Given the description of an element on the screen output the (x, y) to click on. 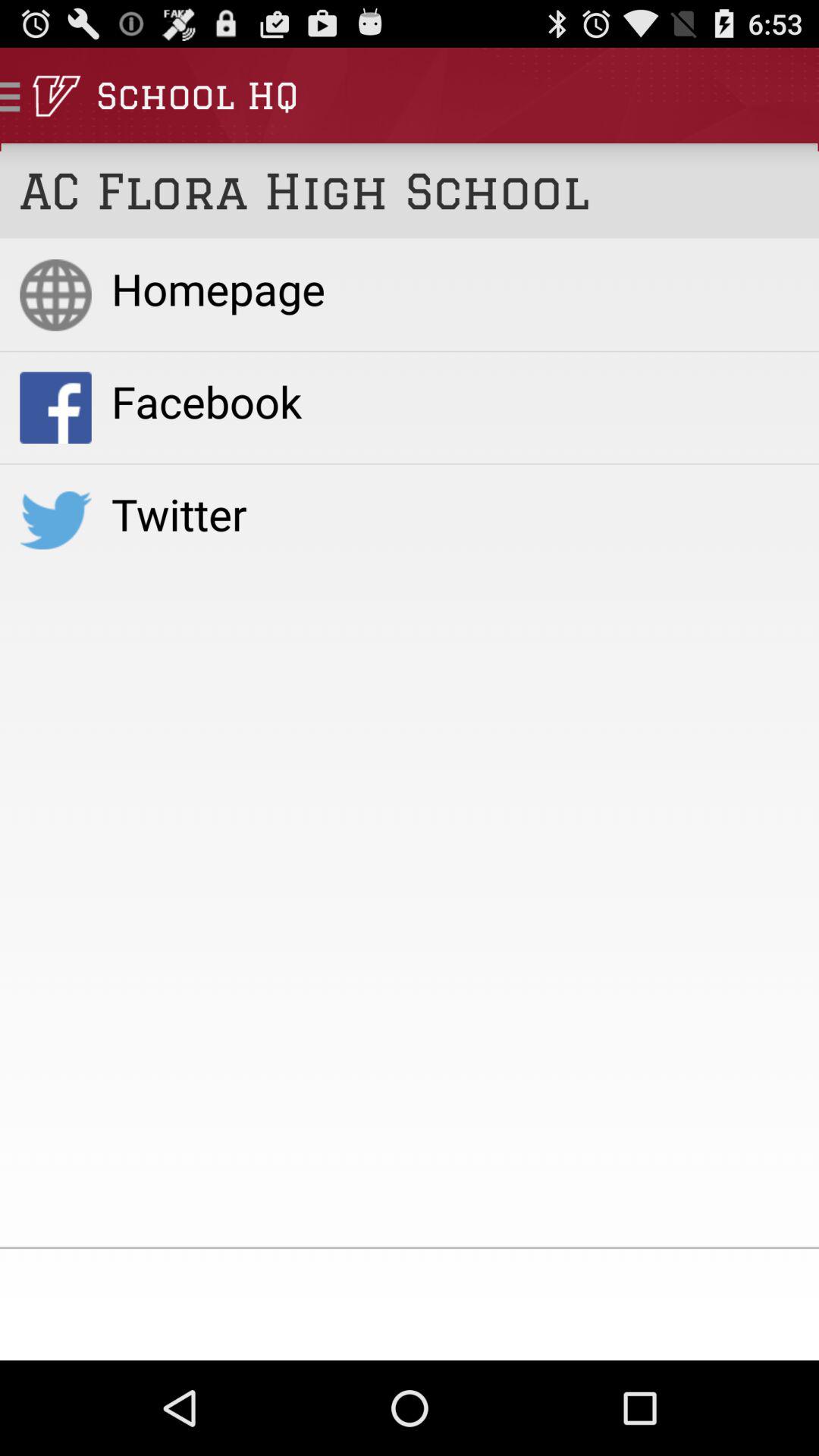
press the item below homepage (455, 400)
